Given the description of an element on the screen output the (x, y) to click on. 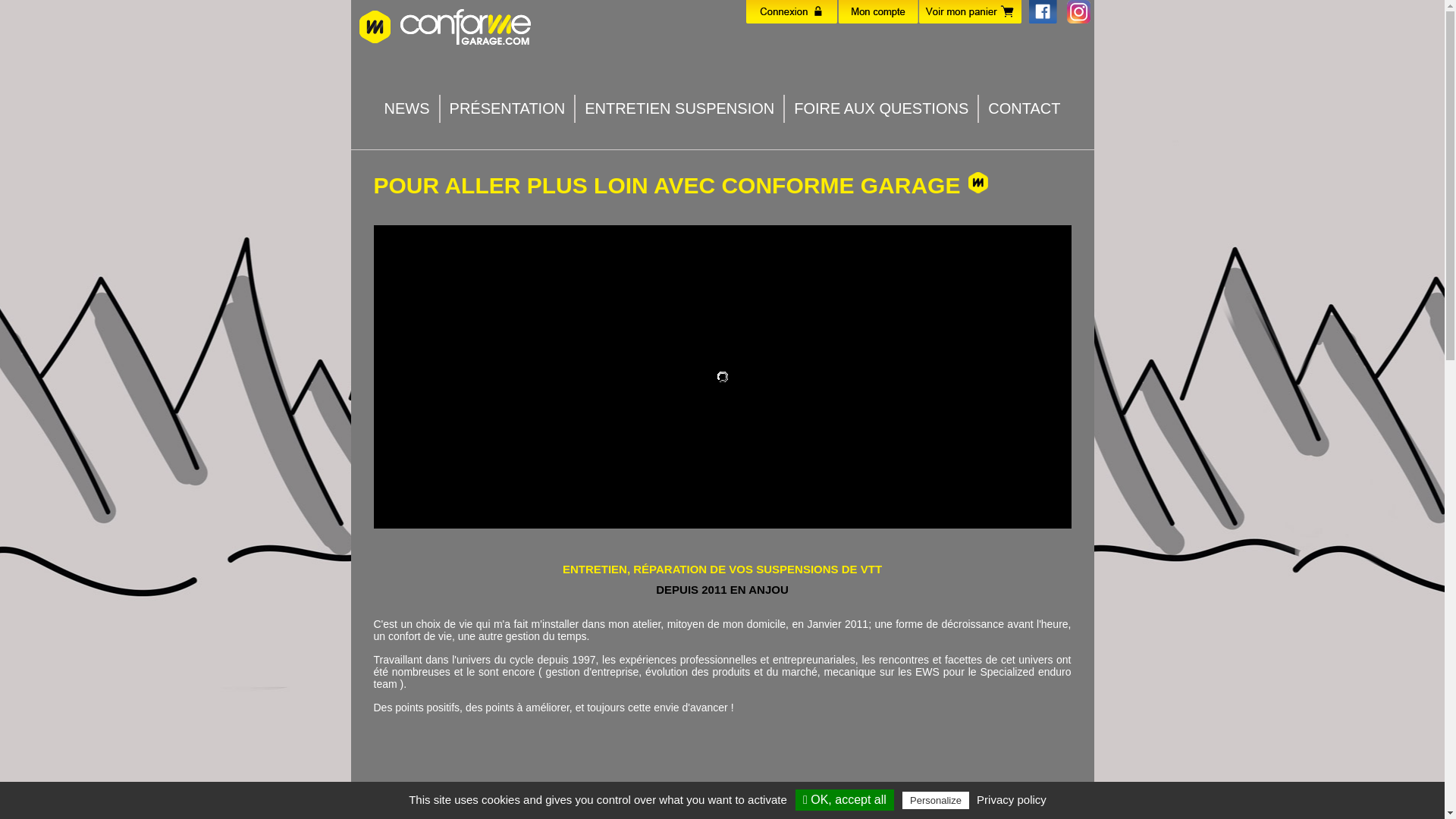
FOIRE AUX QUESTIONS Element type: text (880, 108)
CONFORME Element type: text (448, 25)
Personalize Element type: text (935, 800)
CONTACT Element type: text (1024, 108)
Privacy policy Element type: text (1011, 799)
NEWS Element type: text (406, 108)
ENTRETIEN SUSPENSION Element type: text (679, 108)
